Given the description of an element on the screen output the (x, y) to click on. 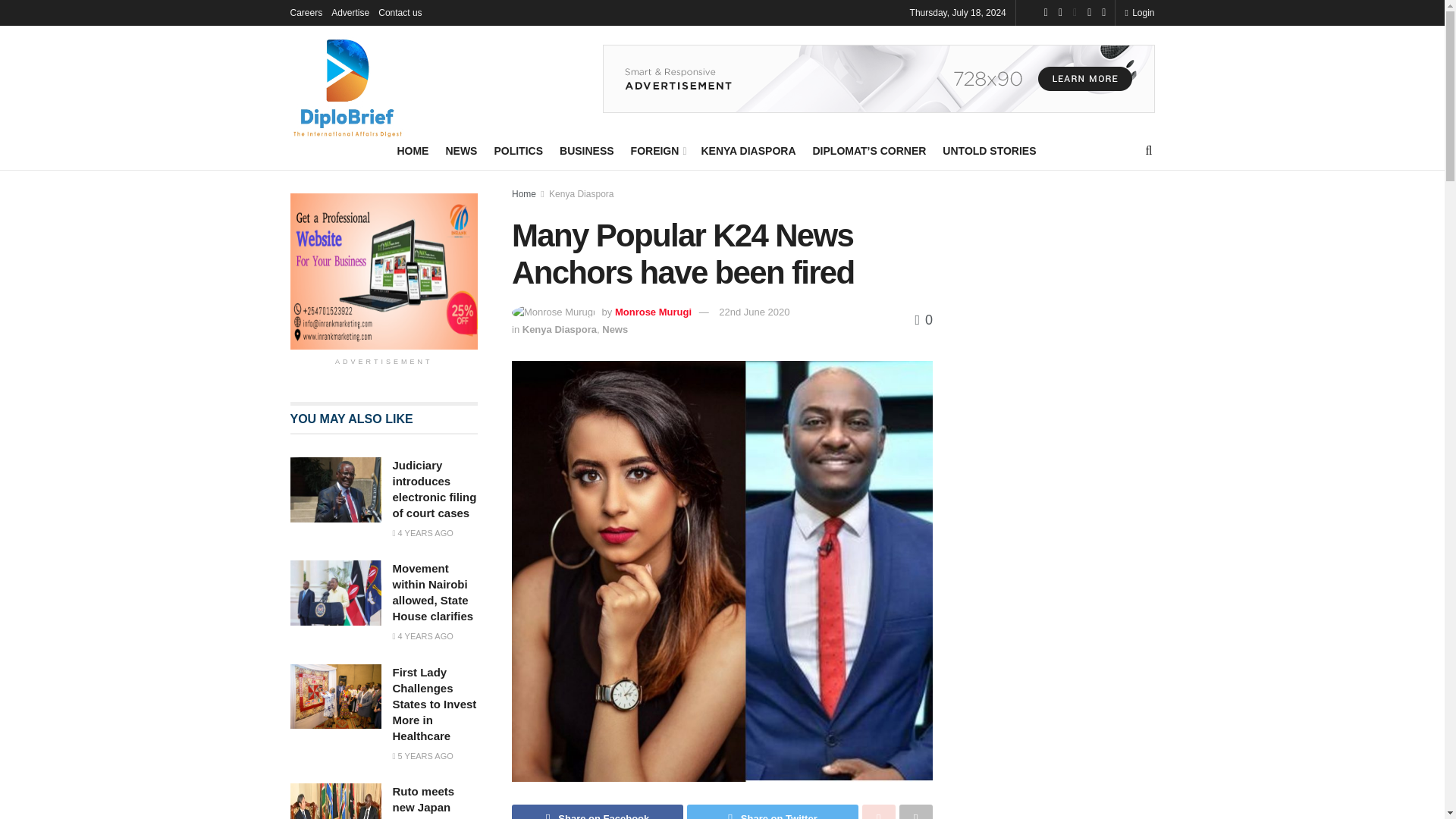
Home (523, 194)
Login (1139, 12)
Share on Twitter (773, 811)
Kenya Diaspora (559, 328)
POLITICS (518, 150)
NEWS (461, 150)
UNTOLD STORIES (988, 150)
22nd June 2020 (754, 311)
Share on Facebook (597, 811)
BUSINESS (586, 150)
Kenya Diaspora (580, 194)
KENYA DIASPORA (747, 150)
News (614, 328)
Careers (305, 12)
